Given the description of an element on the screen output the (x, y) to click on. 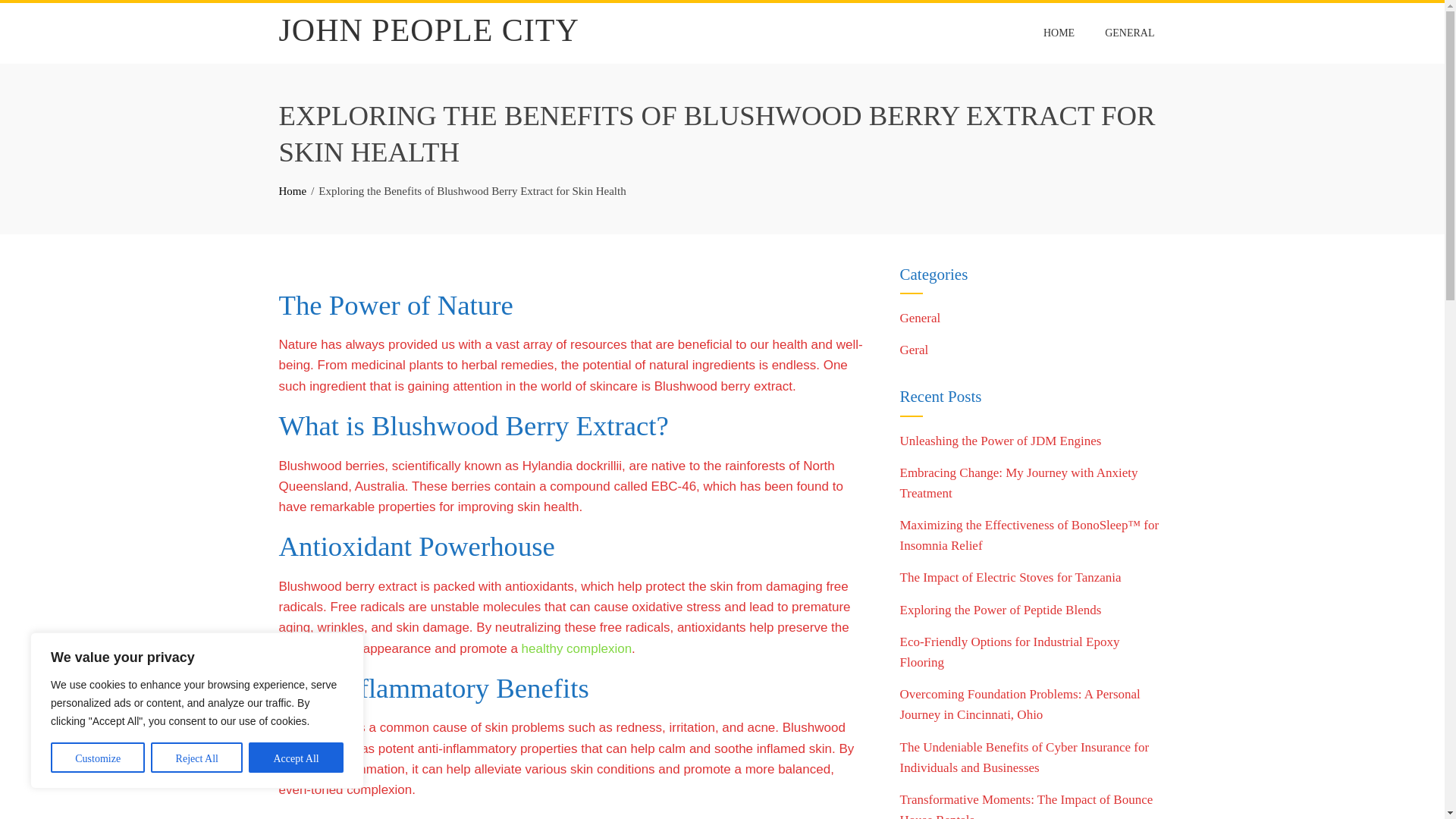
Eco-Friendly Options for Industrial Epoxy Flooring (1009, 651)
Customize (97, 757)
Unleashing the Power of JDM Engines (999, 440)
Transformative Moments: The Impact of Bounce House Rentals (1026, 805)
HOME (1059, 32)
Reject All (197, 757)
Home (293, 191)
JOHN PEOPLE CITY (429, 30)
